Given the description of an element on the screen output the (x, y) to click on. 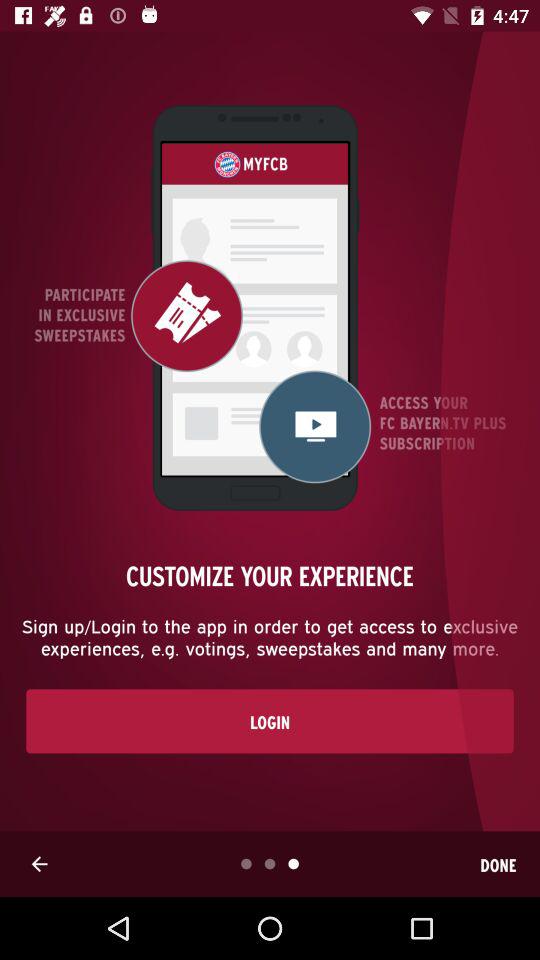
open icon at the bottom right corner (498, 864)
